Given the description of an element on the screen output the (x, y) to click on. 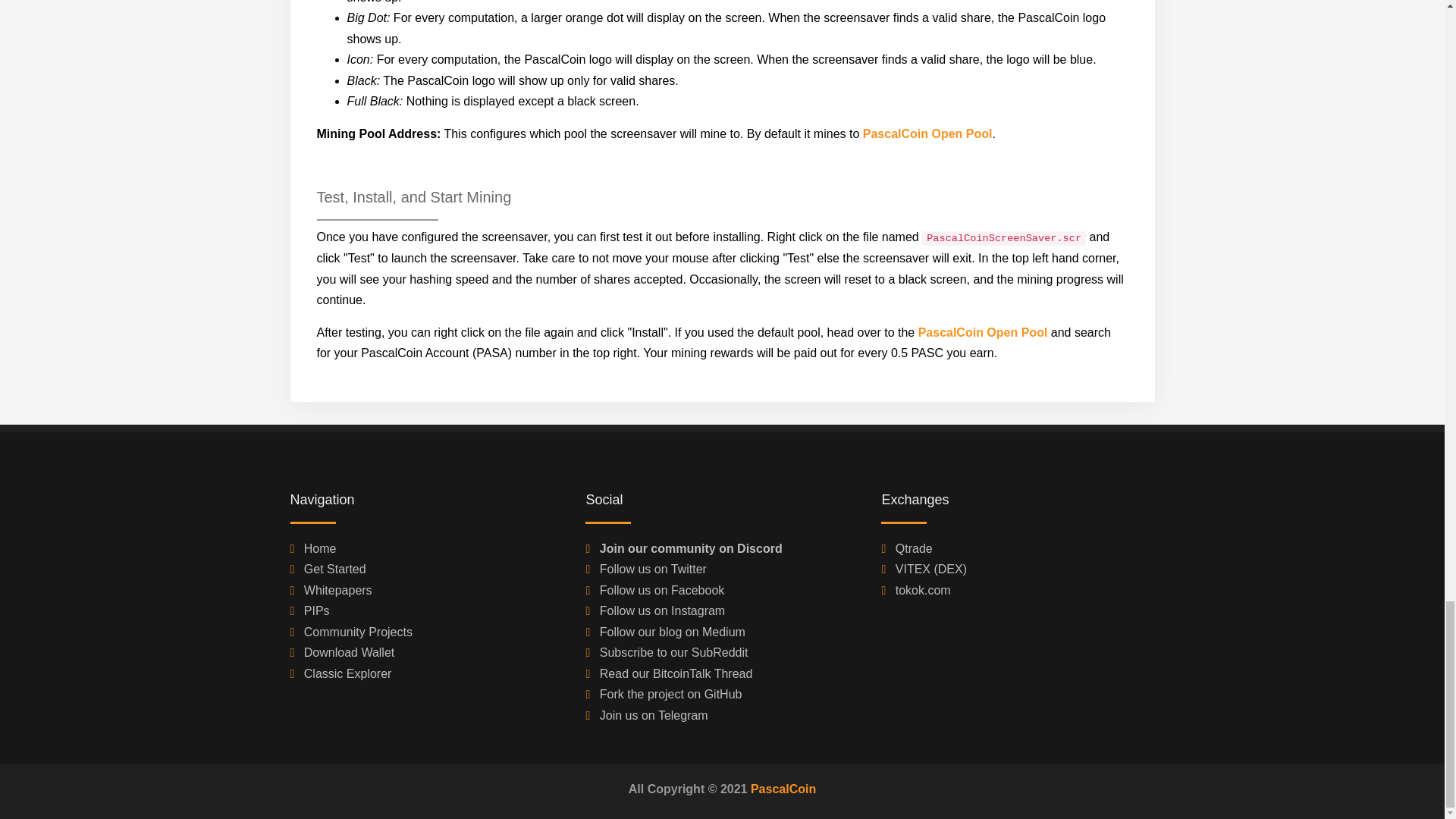
Follow us on Twitter (652, 568)
Classic Explorer (347, 673)
Read our BitcoinTalk Thread (675, 673)
Qtrade (914, 548)
Community Projects (358, 631)
Join our community on Discord (691, 548)
Home (320, 548)
PascalCoin Open Pool (983, 332)
PascalCoin Open Pool (927, 133)
Join us on Telegram (653, 715)
Fork the project on GitHub (670, 694)
Get Started (335, 568)
Follow us on Facebook (662, 590)
Whitepapers (338, 590)
Follow us on Instagram (662, 610)
